Given the description of an element on the screen output the (x, y) to click on. 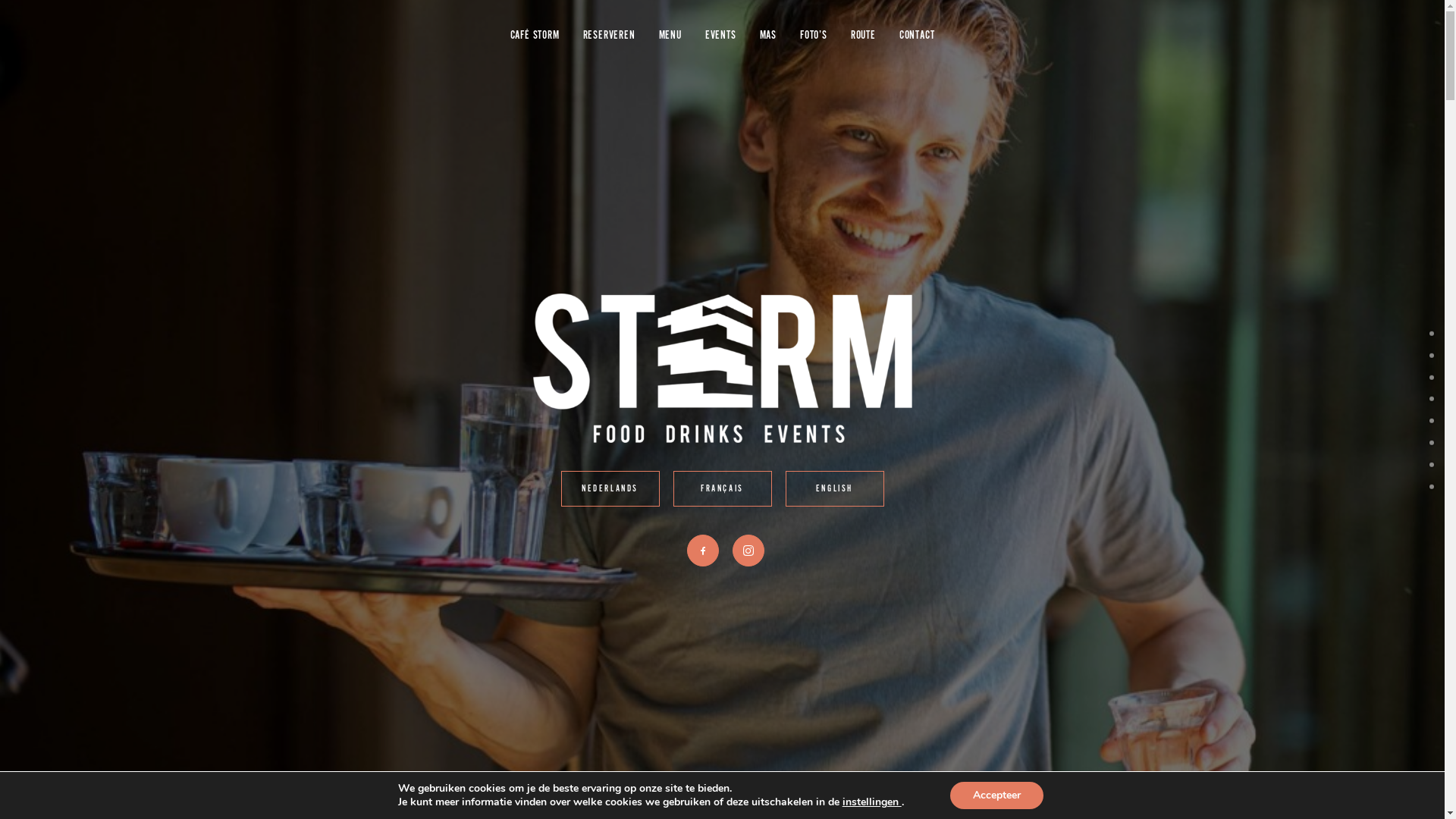
CONTACT Element type: text (916, 35)
MAS Element type: text (768, 35)
NEDERLANDS Element type: text (610, 488)
Accepteer Element type: text (996, 795)
MENU Element type: text (670, 35)
ROUTE Element type: text (863, 35)
ENGLISH Element type: text (834, 488)
EVENTS Element type: text (720, 35)
RESERVEREN Element type: text (609, 35)
